Given the description of an element on the screen output the (x, y) to click on. 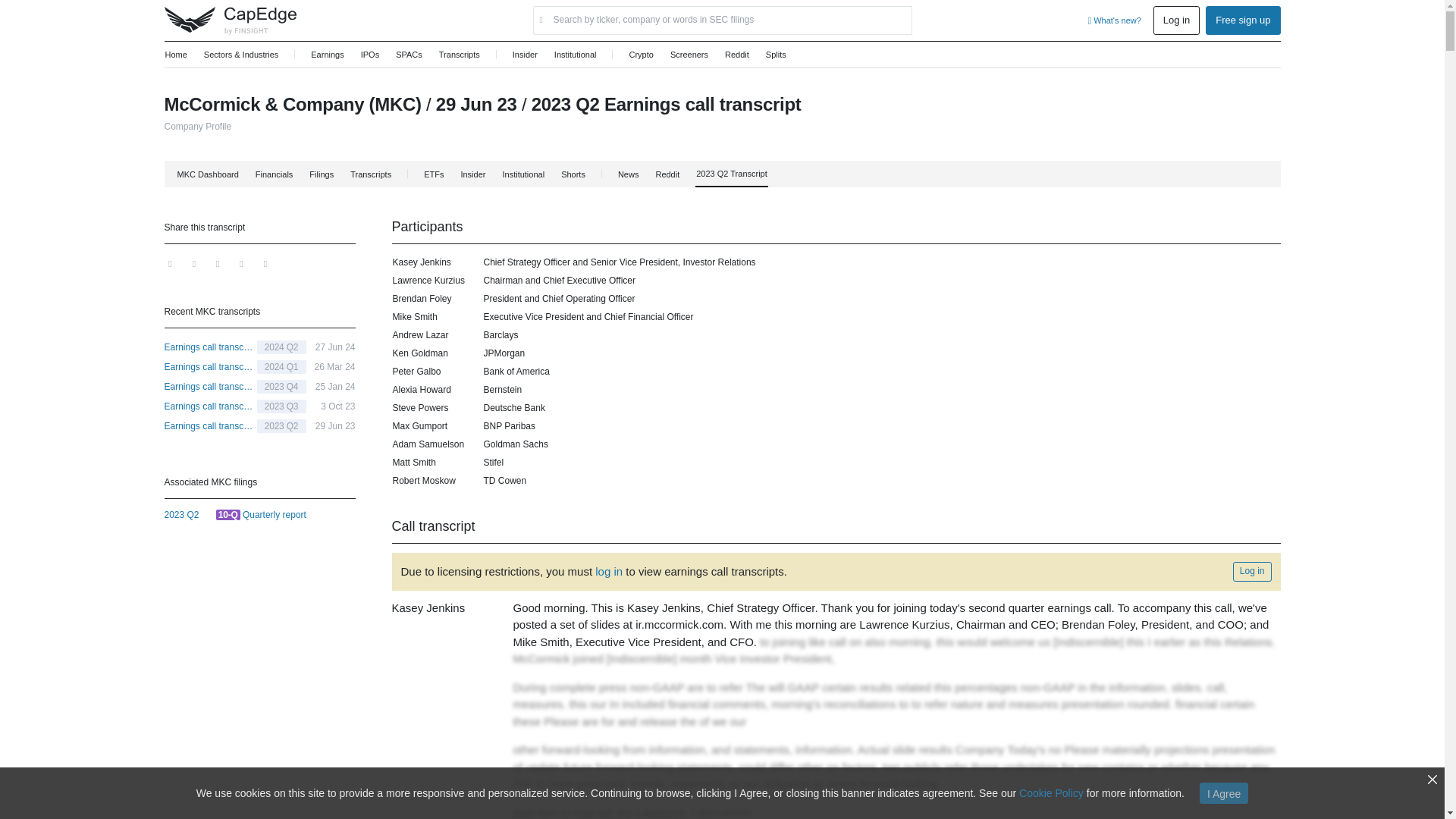
Institutional (574, 54)
Transcripts (459, 54)
Institutional (522, 173)
What's new? (1113, 20)
Shorts (573, 173)
Transcripts (259, 386)
Reddit (370, 173)
Reddit (736, 54)
Filings (666, 173)
